Given the description of an element on the screen output the (x, y) to click on. 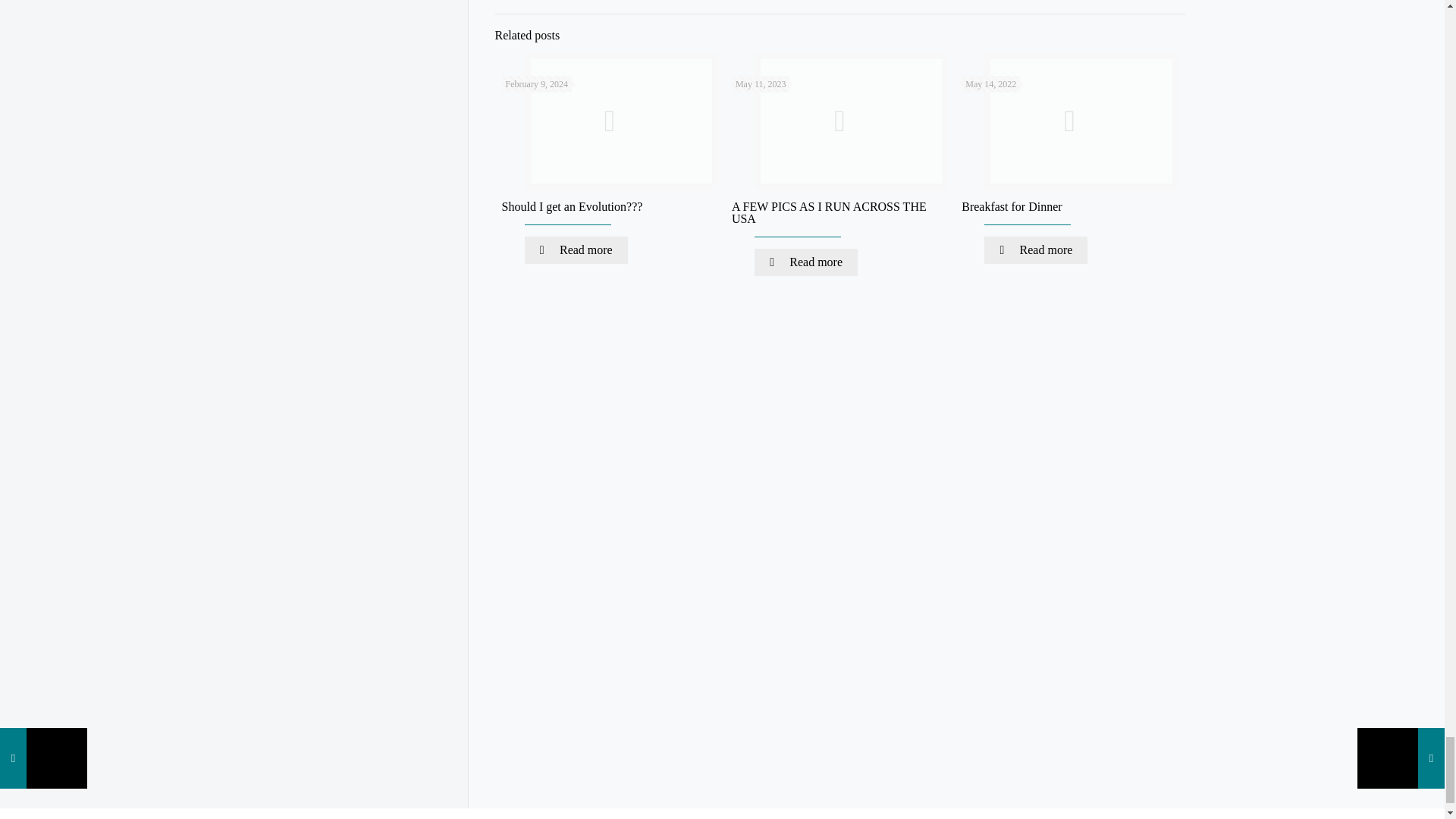
Read more (575, 249)
Breakfast for Dinner (1010, 205)
A FEW PICS AS I RUN ACROSS THE USA (829, 212)
Read more (805, 262)
Should I get an Evolution??? (572, 205)
Read more (1035, 249)
